Given the description of an element on the screen output the (x, y) to click on. 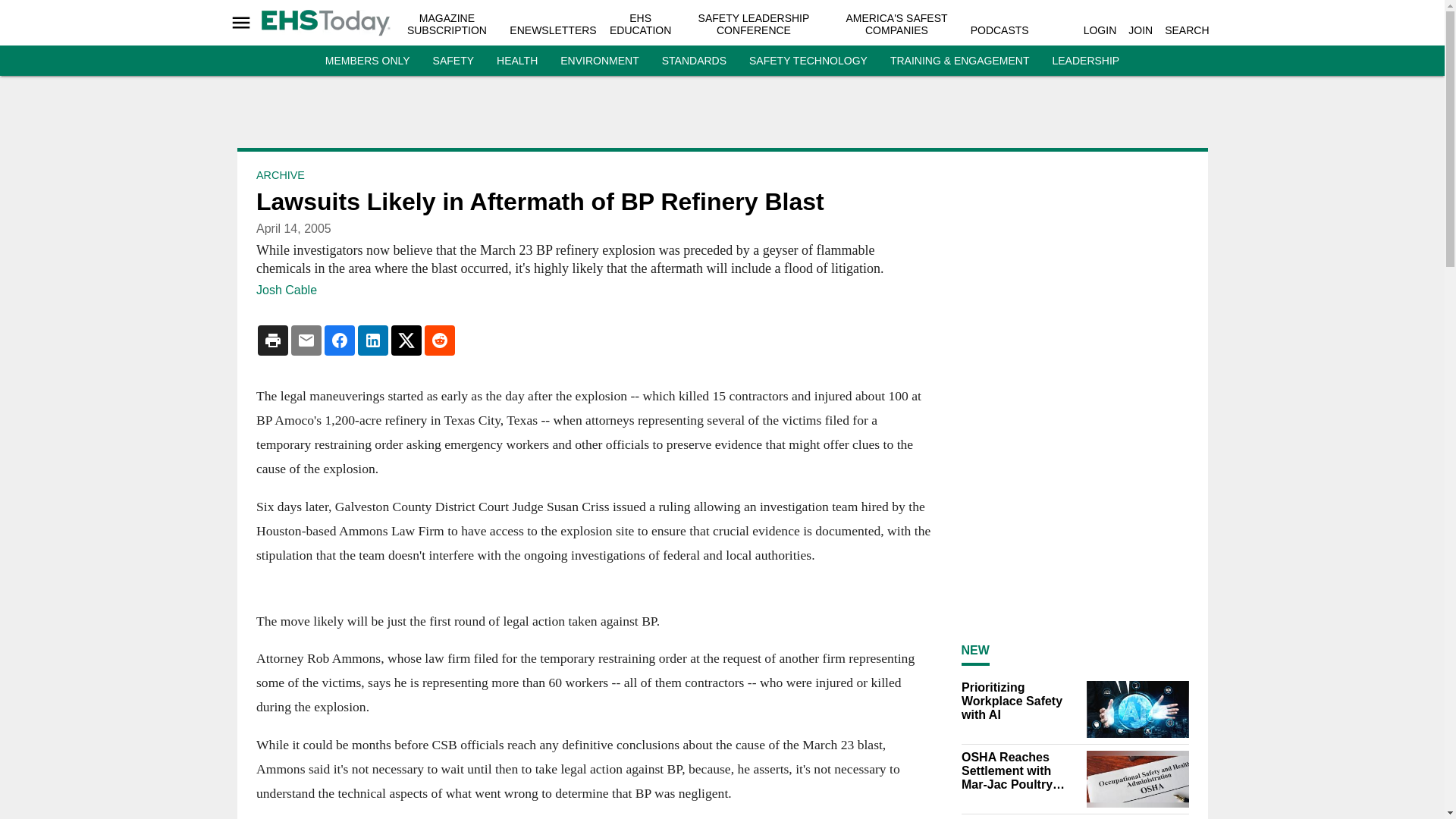
LEADERSHIP (1085, 60)
SAFETY LEADERSHIP CONFERENCE (753, 24)
PODCASTS (1000, 30)
ENEWSLETTERS (552, 30)
MEMBERS ONLY (367, 60)
JOIN (1140, 30)
EHS EDUCATION (640, 24)
AMERICA'S SAFEST COMPANIES (896, 24)
SEARCH (1186, 30)
MAGAZINE SUBSCRIPTION (446, 24)
